Given the description of an element on the screen output the (x, y) to click on. 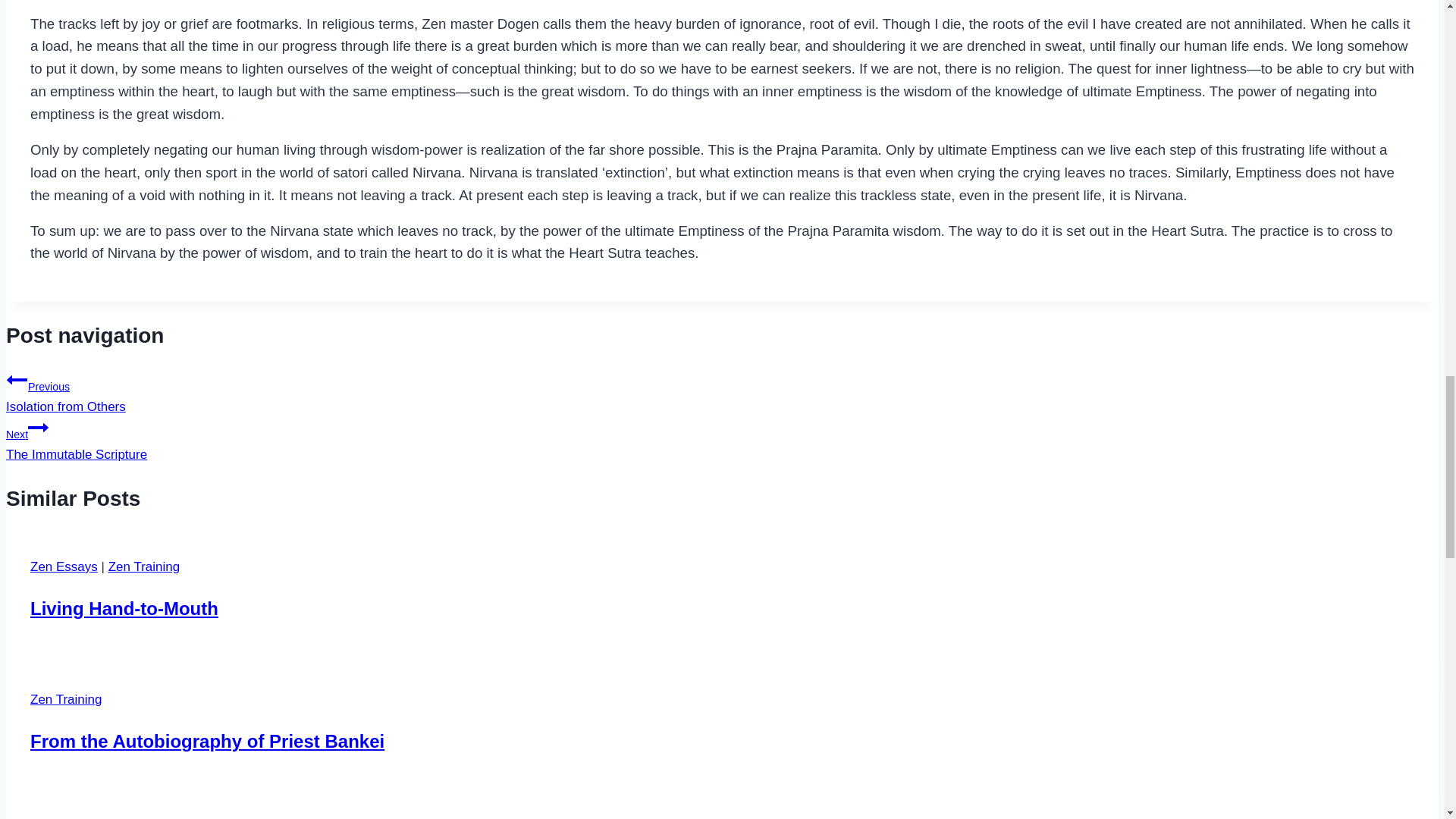
Continue (37, 427)
Previous (16, 379)
